Given the description of an element on the screen output the (x, y) to click on. 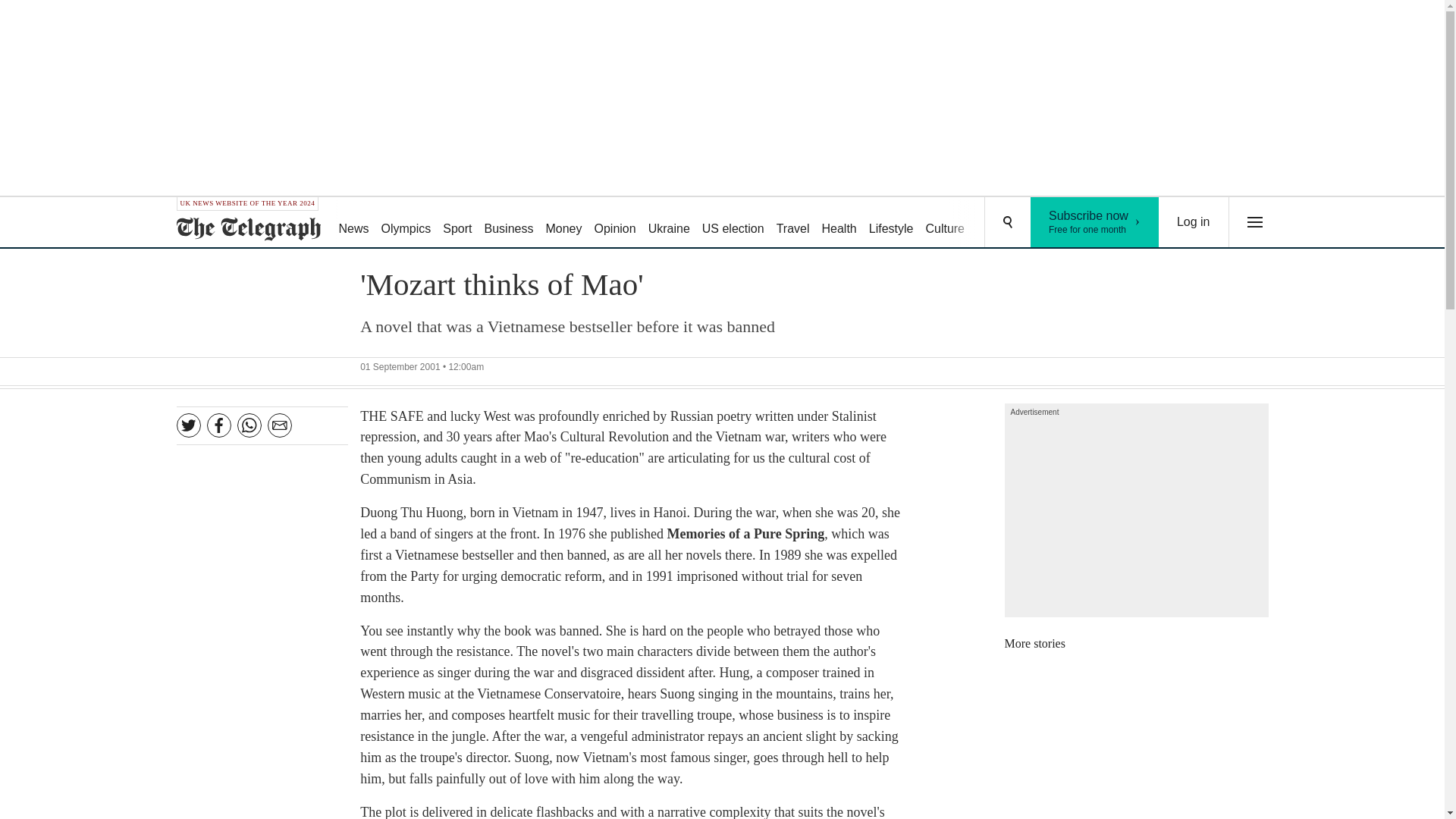
Log in (1193, 222)
Opinion (1094, 222)
Ukraine (615, 223)
Podcasts (668, 223)
Money (1056, 223)
Business (563, 223)
US election (509, 223)
Puzzles (732, 223)
Culture (998, 223)
Lifestyle (944, 223)
Travel (891, 223)
Health (792, 223)
Olympics (838, 223)
